Given the description of an element on the screen output the (x, y) to click on. 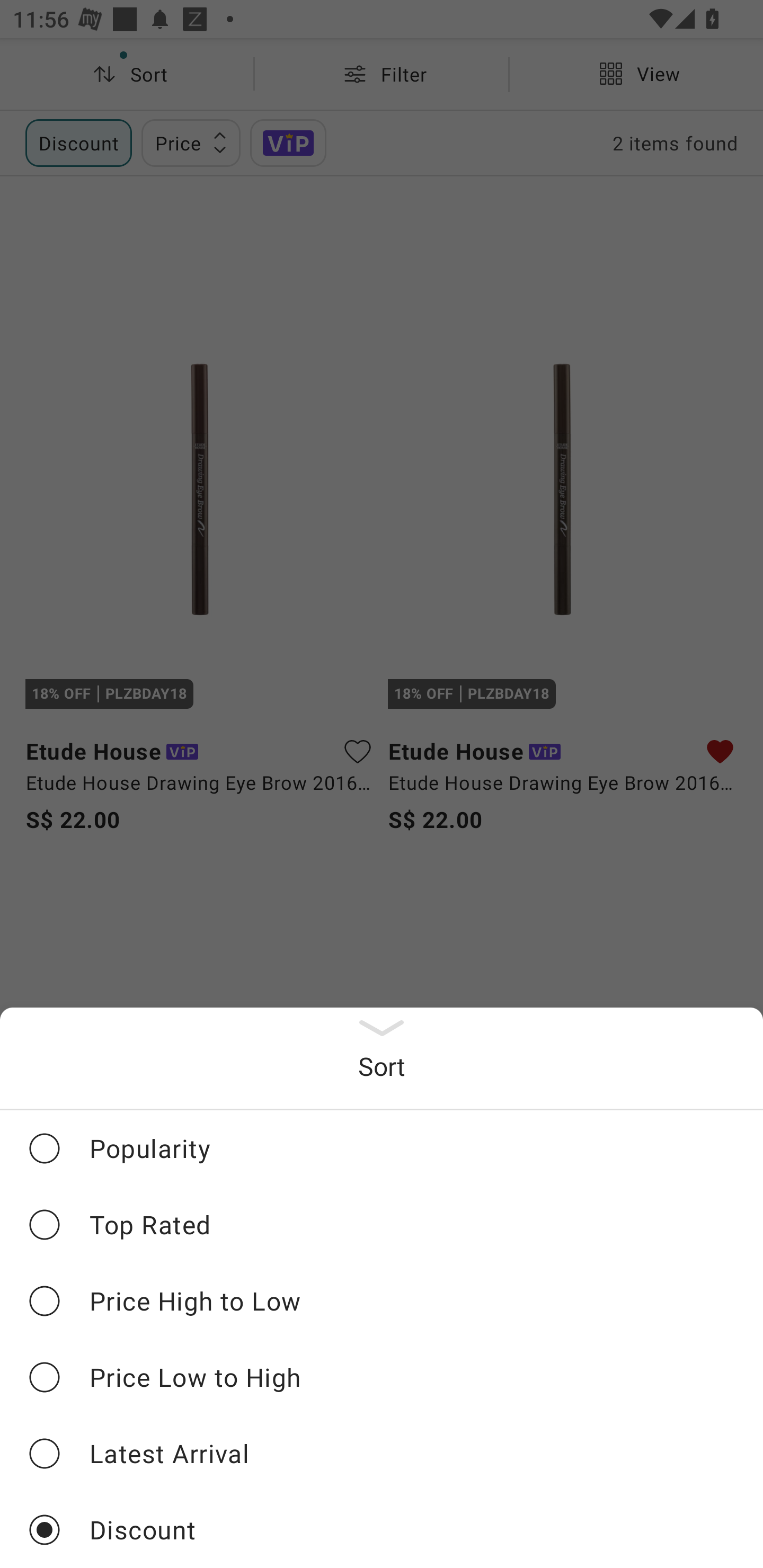
Popularity (381, 1148)
Top Rated (381, 1224)
Price High to Low (381, 1300)
Price Low to High (381, 1377)
Latest Arrival (381, 1453)
Discount (381, 1529)
